Given the description of an element on the screen output the (x, y) to click on. 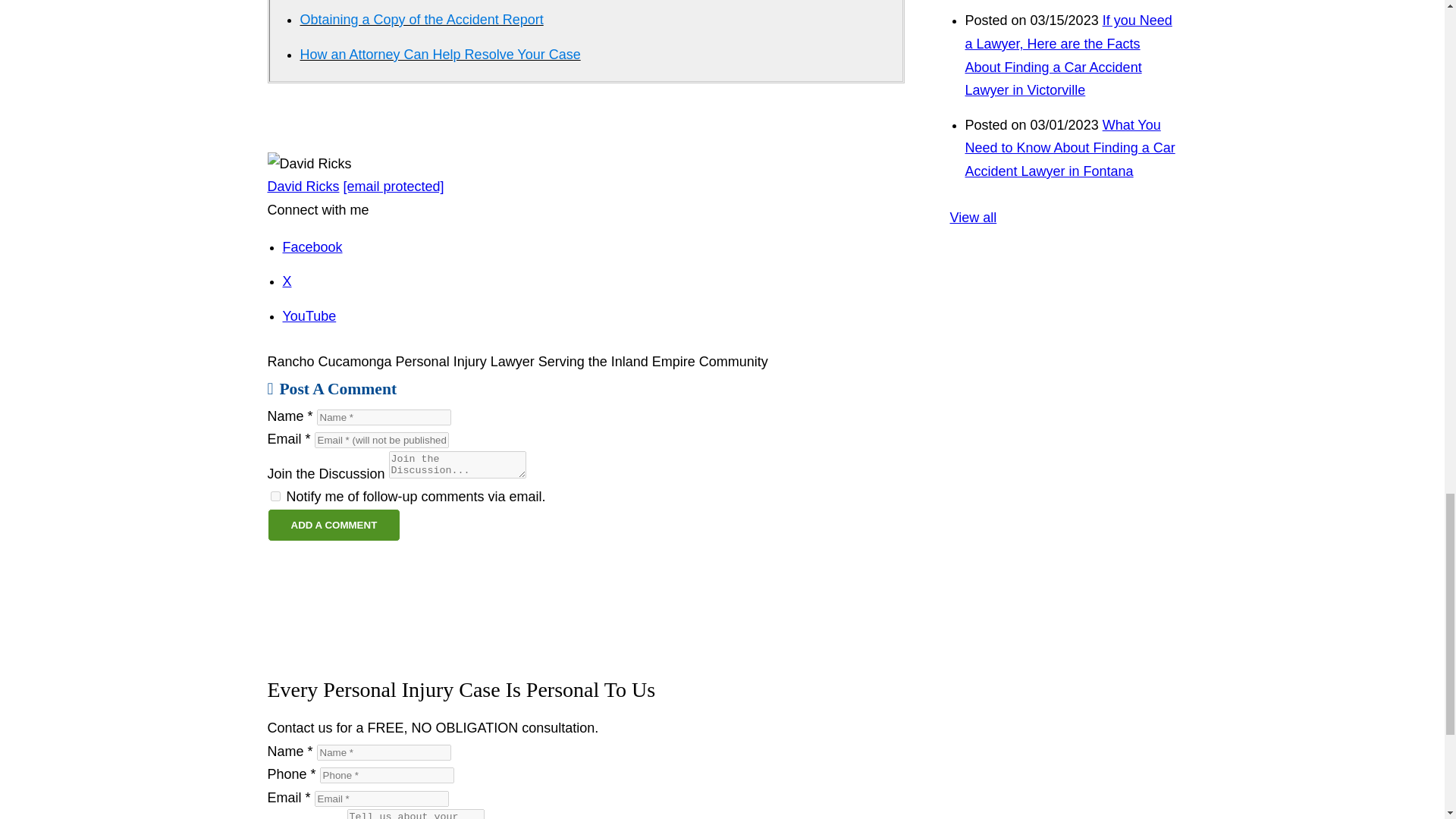
Watch me on YouTube (309, 315)
1 (274, 496)
Find me on Facebook (312, 246)
